Given the description of an element on the screen output the (x, y) to click on. 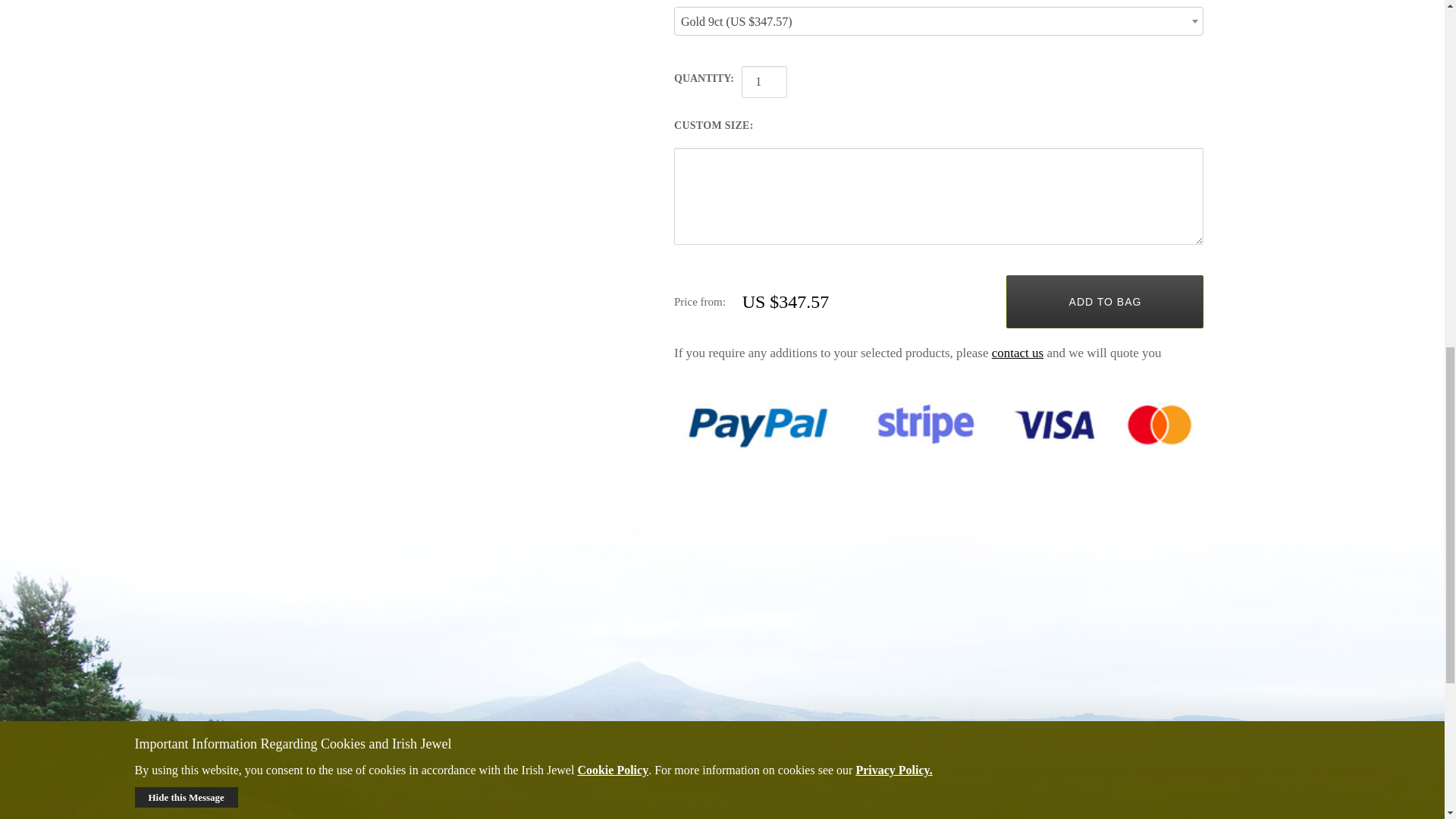
1 (764, 81)
Contact Us (1017, 352)
